Given the description of an element on the screen output the (x, y) to click on. 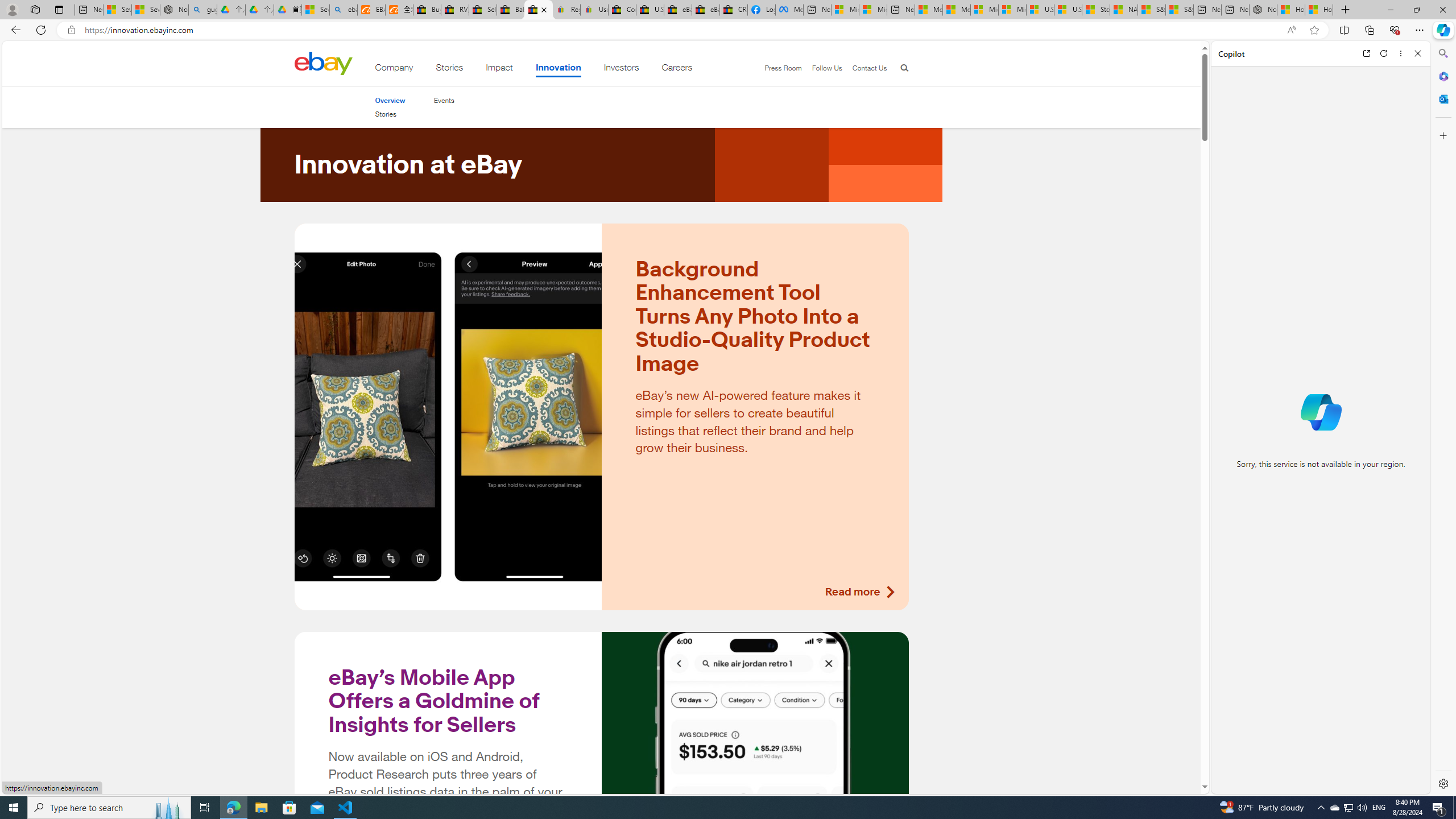
ebay - Search (343, 9)
Customize (1442, 135)
Meta Store (789, 9)
Buy Auto Parts & Accessories | eBay (426, 9)
Class: desktop (323, 63)
More options (1401, 53)
Investors (620, 69)
RV, Trailer & Camper Steps & Ladders for sale | eBay (454, 9)
Home (323, 63)
